Given the description of an element on the screen output the (x, y) to click on. 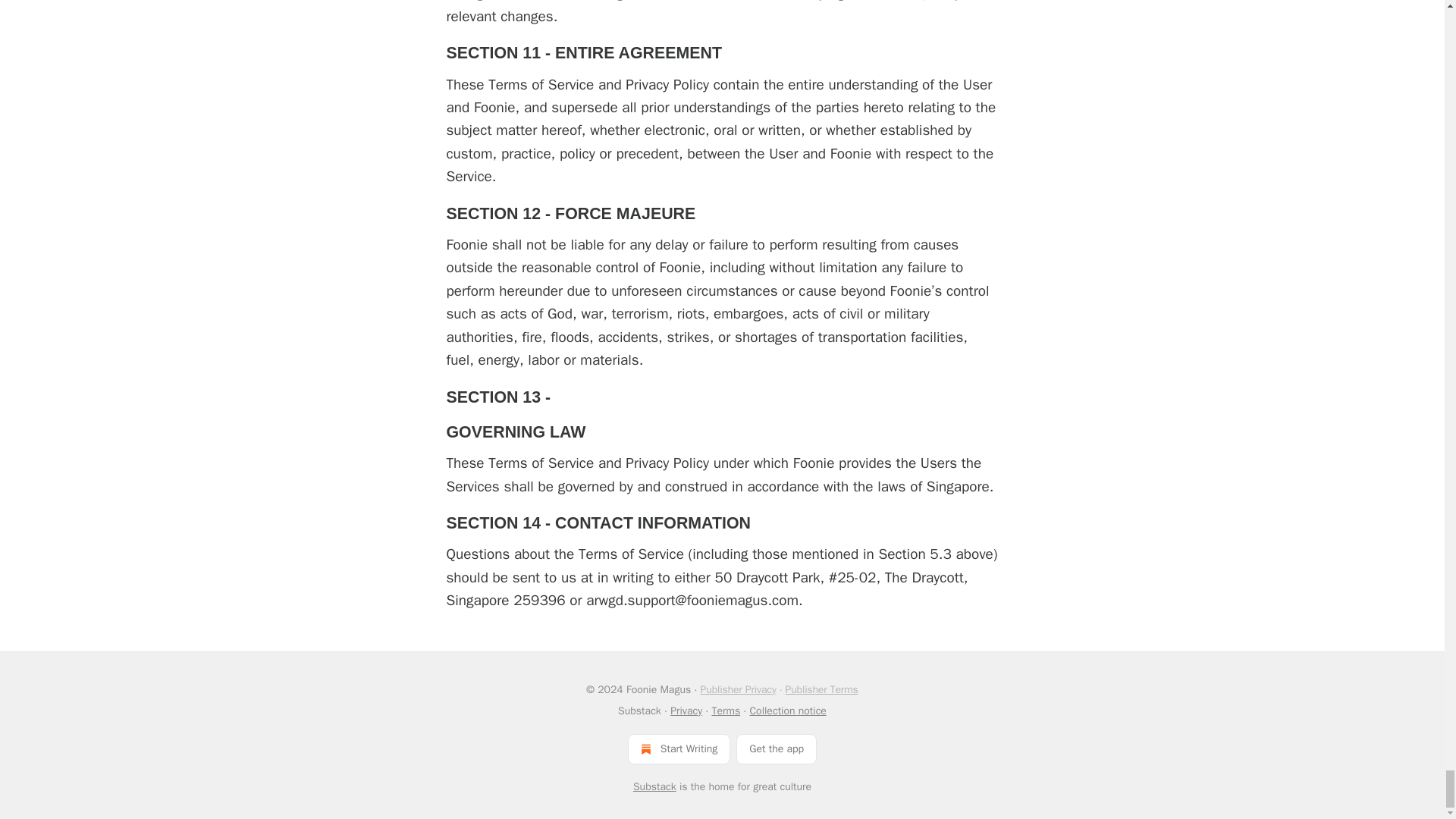
Start Writing (678, 748)
Substack (655, 786)
Privacy (685, 710)
Terms (725, 710)
Get the app (776, 748)
Publisher Terms (820, 689)
Collection notice (787, 710)
Publisher Privacy (738, 689)
